Given the description of an element on the screen output the (x, y) to click on. 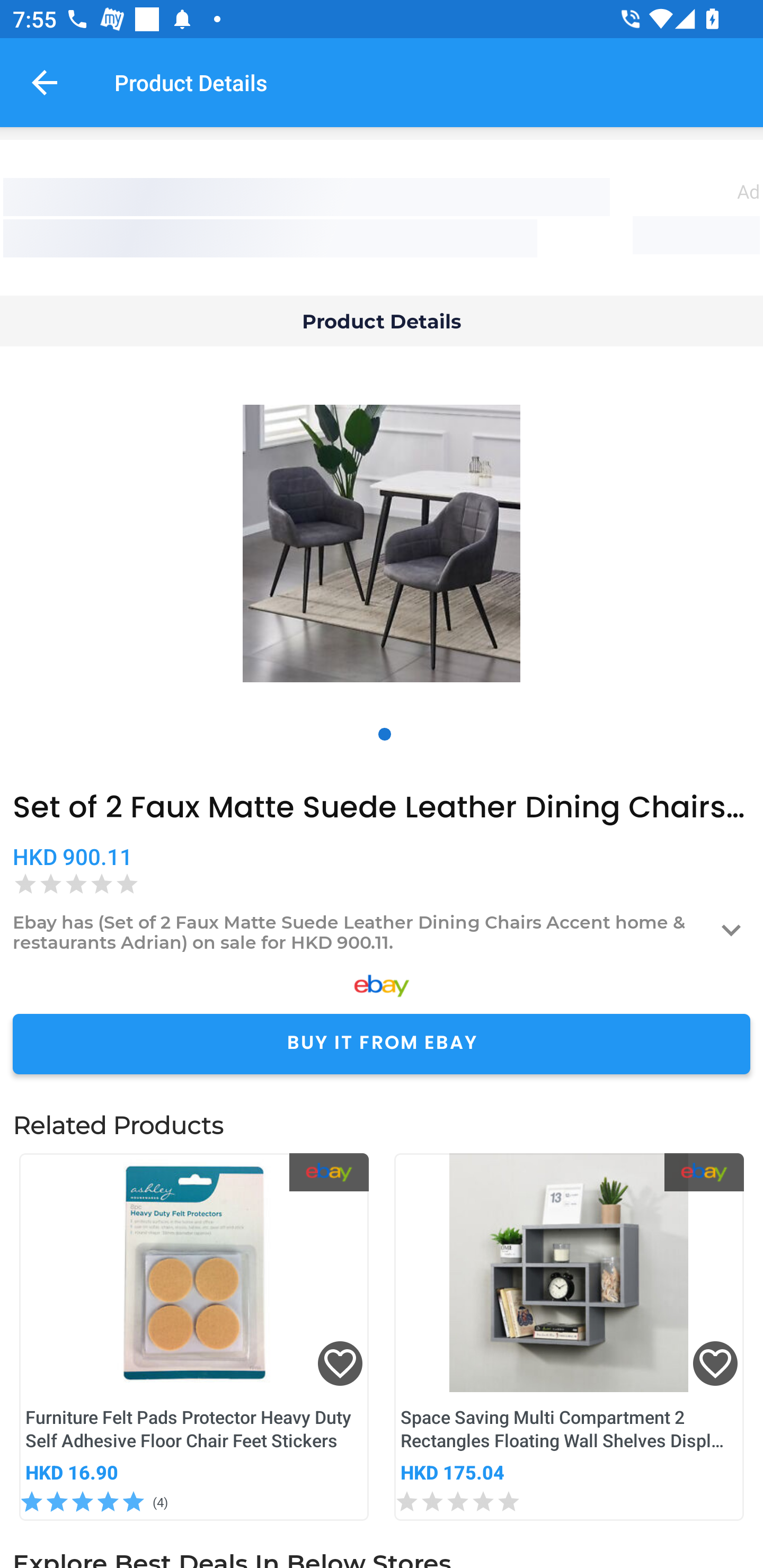
Navigate up (44, 82)
BUY IT FROM EBAY (381, 1044)
